Given the description of an element on the screen output the (x, y) to click on. 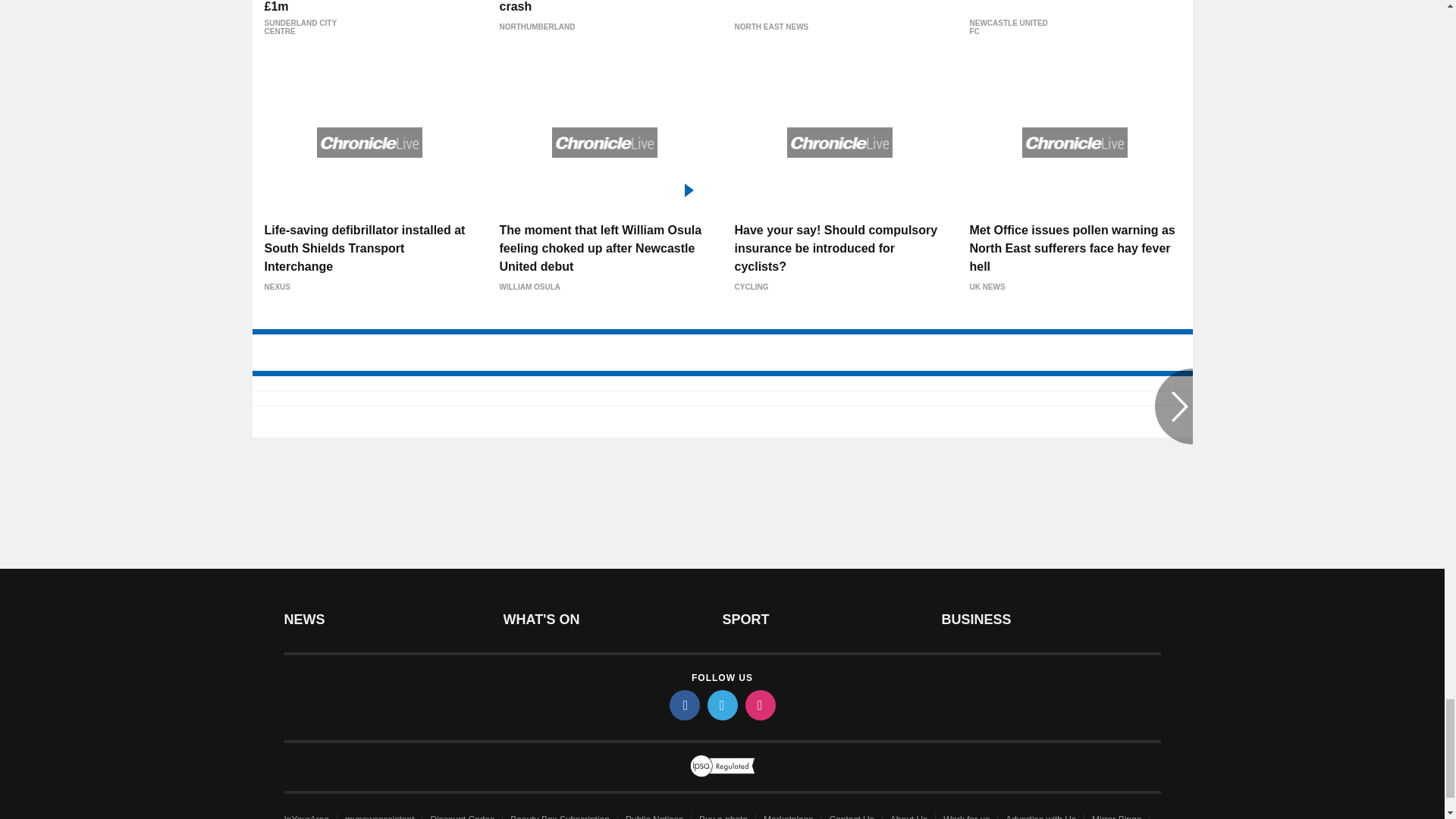
facebook (683, 705)
twitter (721, 705)
instagram (759, 705)
